Given the description of an element on the screen output the (x, y) to click on. 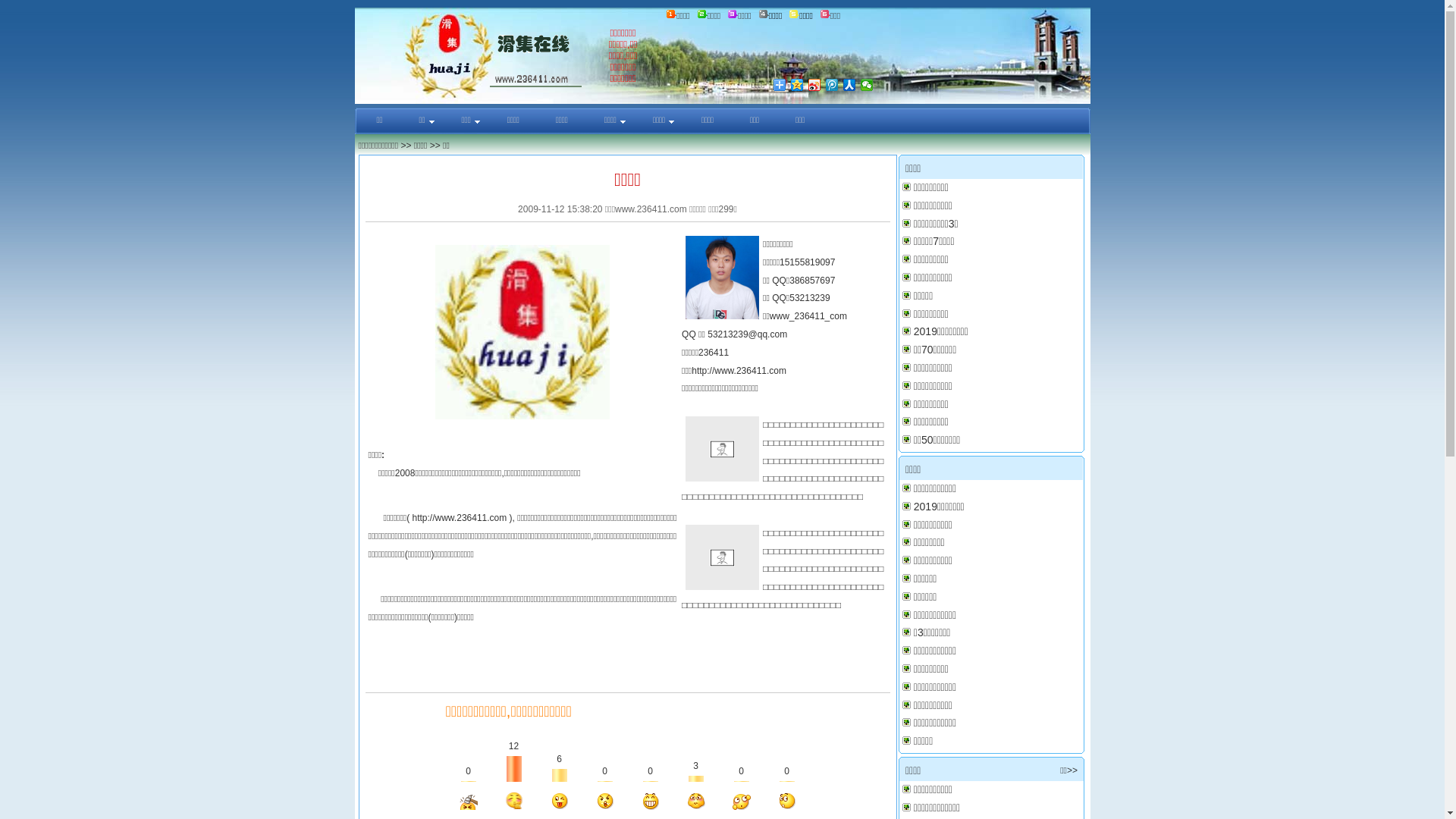
http://www.236411.com Element type: text (459, 517)
53213239@qq.com Element type: text (747, 334)
http://www.236411.com Element type: text (738, 370)
